Given the description of an element on the screen output the (x, y) to click on. 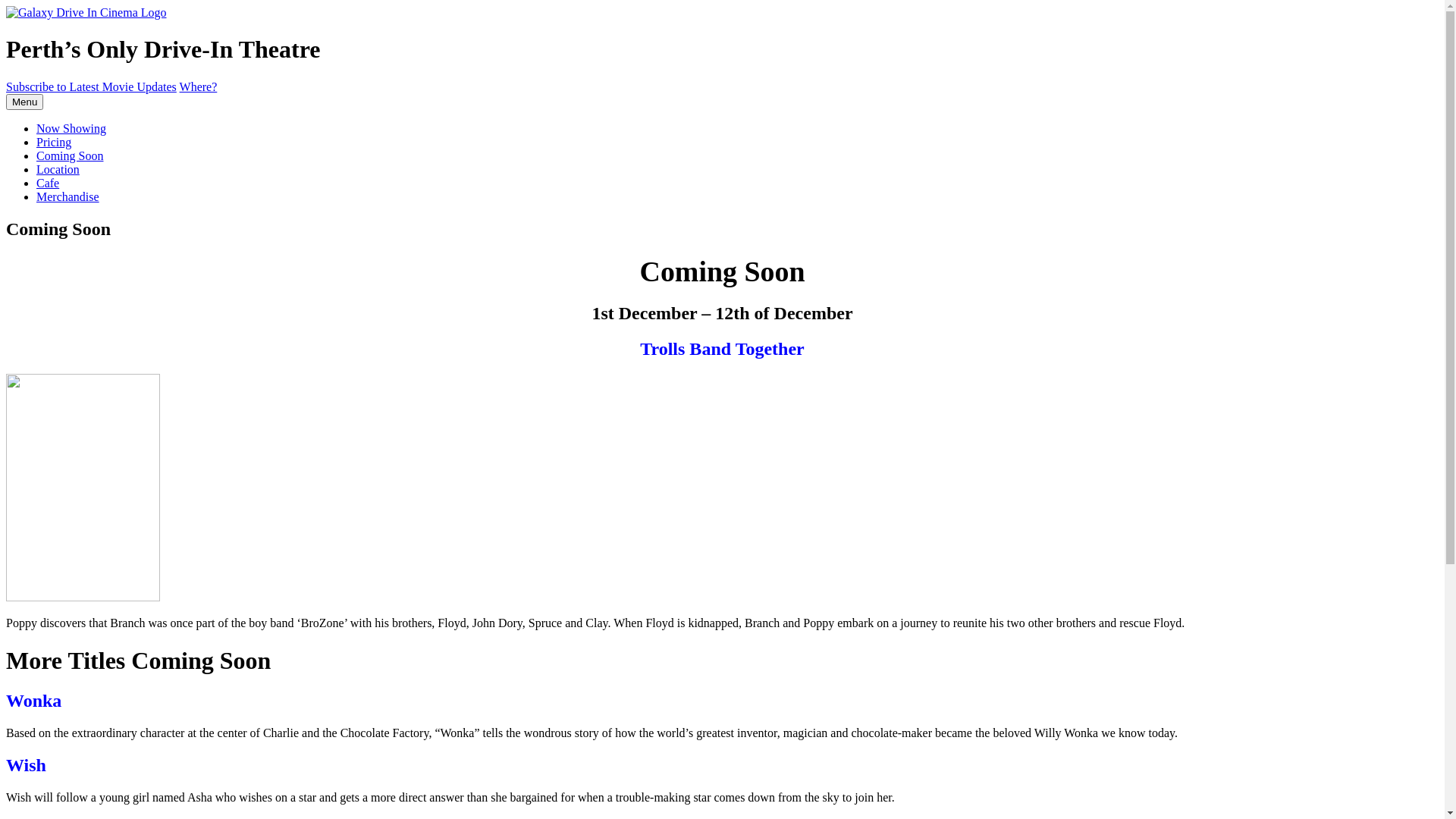
Galaxy Drive In Cinema Element type: hover (86, 12)
Location Element type: text (57, 169)
Subscribe to Latest Movie Updates Element type: text (91, 86)
Pricing Element type: text (53, 141)
Now Showing Element type: text (71, 128)
Toggle navigation
Menu Element type: text (24, 101)
Merchandise Element type: text (67, 196)
Where? Element type: text (198, 86)
Cafe Element type: text (47, 182)
Coming Soon Element type: text (69, 155)
